Given the description of an element on the screen output the (x, y) to click on. 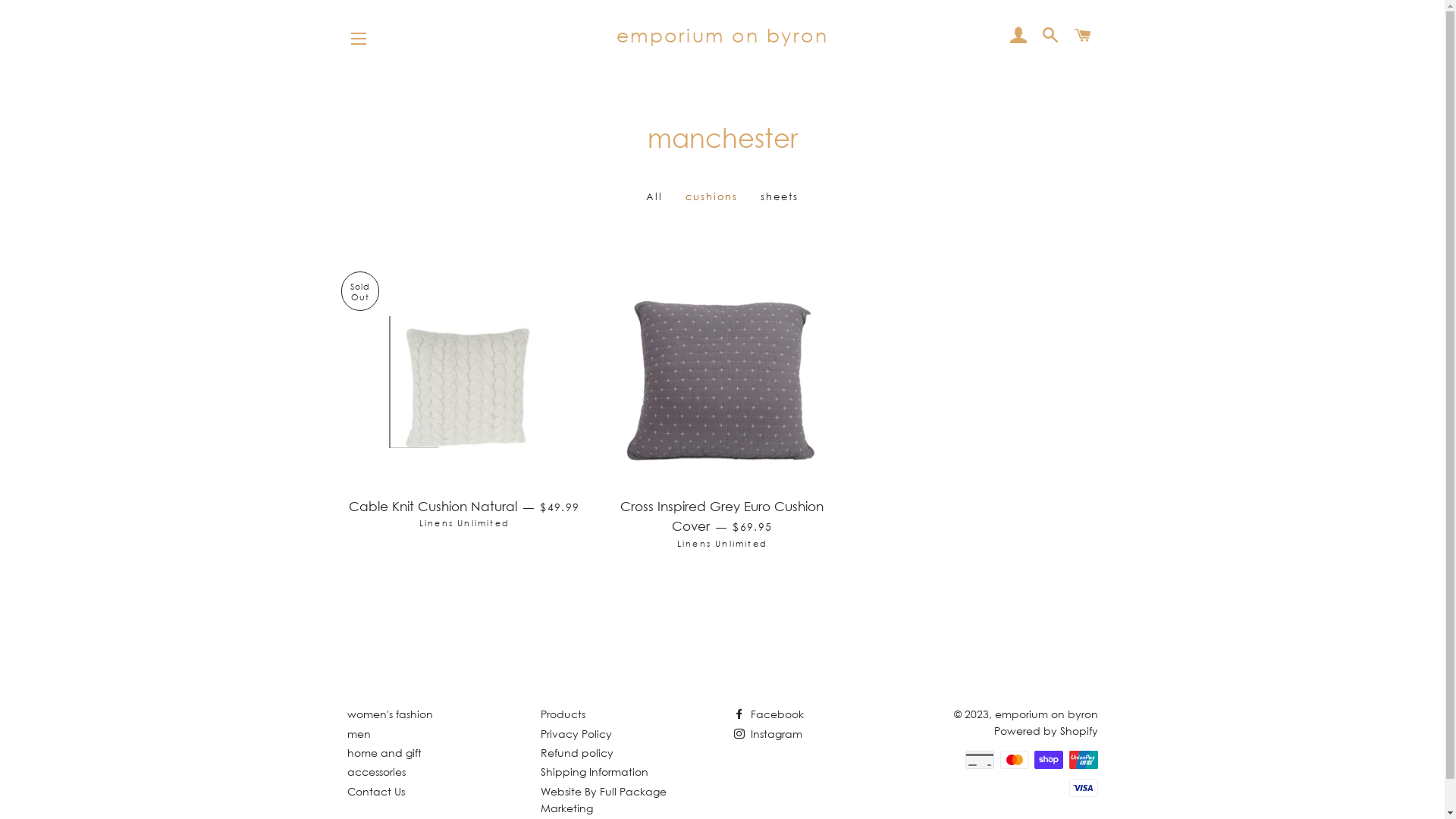
Site navigation Element type: text (358, 38)
Website By Full Package Marketing Element type: text (602, 799)
Privacy Policy Element type: text (575, 733)
Refund policy Element type: text (575, 752)
accessories Element type: text (376, 771)
Instagram Element type: text (768, 733)
women's fashion Element type: text (390, 713)
Search Element type: text (1050, 35)
men Element type: text (358, 733)
Shipping Information Element type: text (593, 771)
emporium on byron Element type: text (1046, 713)
Powered by Shopify Element type: text (1045, 730)
cushions Element type: text (711, 196)
Contact Us Element type: text (375, 790)
emporium on byron Element type: text (721, 35)
sheets Element type: text (779, 196)
Cart Element type: text (1082, 35)
All Element type: text (654, 196)
home and gift Element type: text (384, 752)
Log In Element type: text (1018, 35)
Products Element type: text (561, 713)
Facebook Element type: text (768, 713)
